Given the description of an element on the screen output the (x, y) to click on. 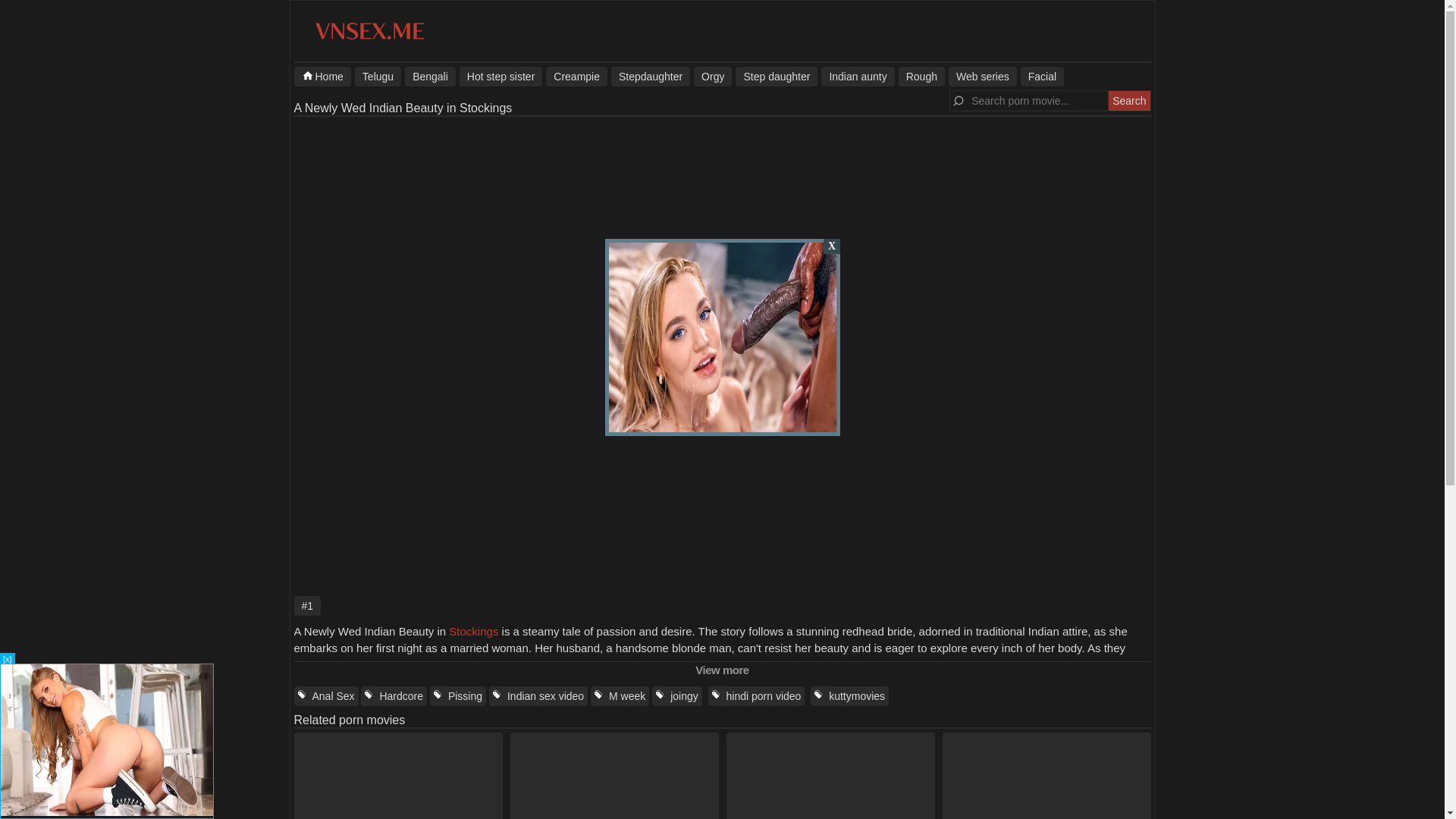
Pissing (457, 695)
Search (1129, 100)
M week (620, 695)
Orgy (713, 76)
in.vnsex.me (369, 38)
Bengali (429, 76)
Home (322, 76)
Creampie (576, 76)
Rough (921, 76)
A Newly Wed Indian Beauty in Stockings (403, 107)
